Given the description of an element on the screen output the (x, y) to click on. 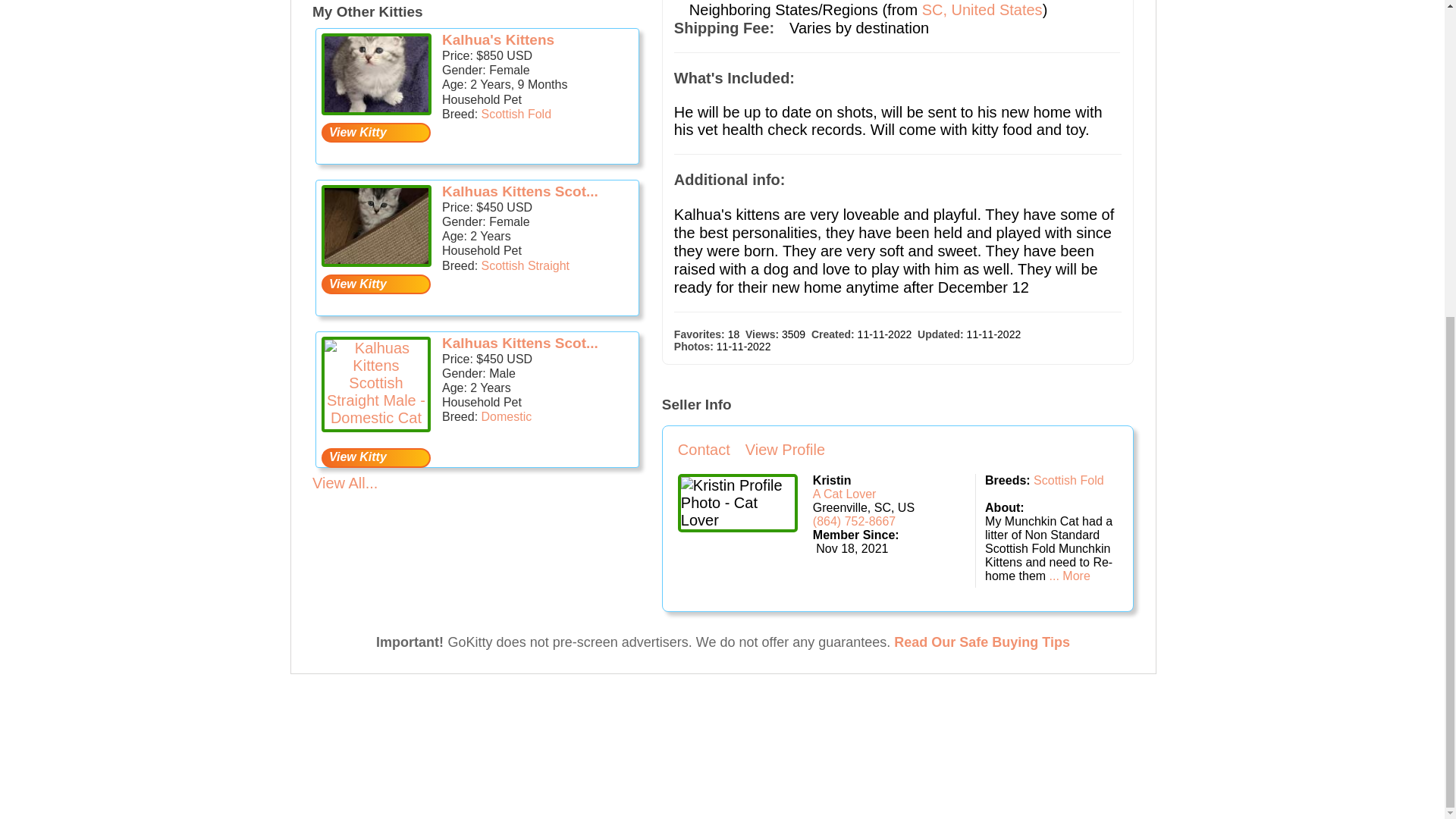
View Kitty (375, 457)
Kalhua's Kittens (498, 39)
view map (981, 9)
Kalhuas Kittens Scot... (520, 342)
View Kitty (375, 284)
Kalhuas Kittens Scot... (520, 191)
View Kitty (375, 132)
View Kitty (375, 284)
Kristin Profile Photo - Cat Lover (737, 503)
View All... (345, 483)
Kalhua's Kittens - Scottish Fold Cat For Sale -  (375, 74)
Domestic (506, 416)
Scottish Straight (525, 265)
